Given the description of an element on the screen output the (x, y) to click on. 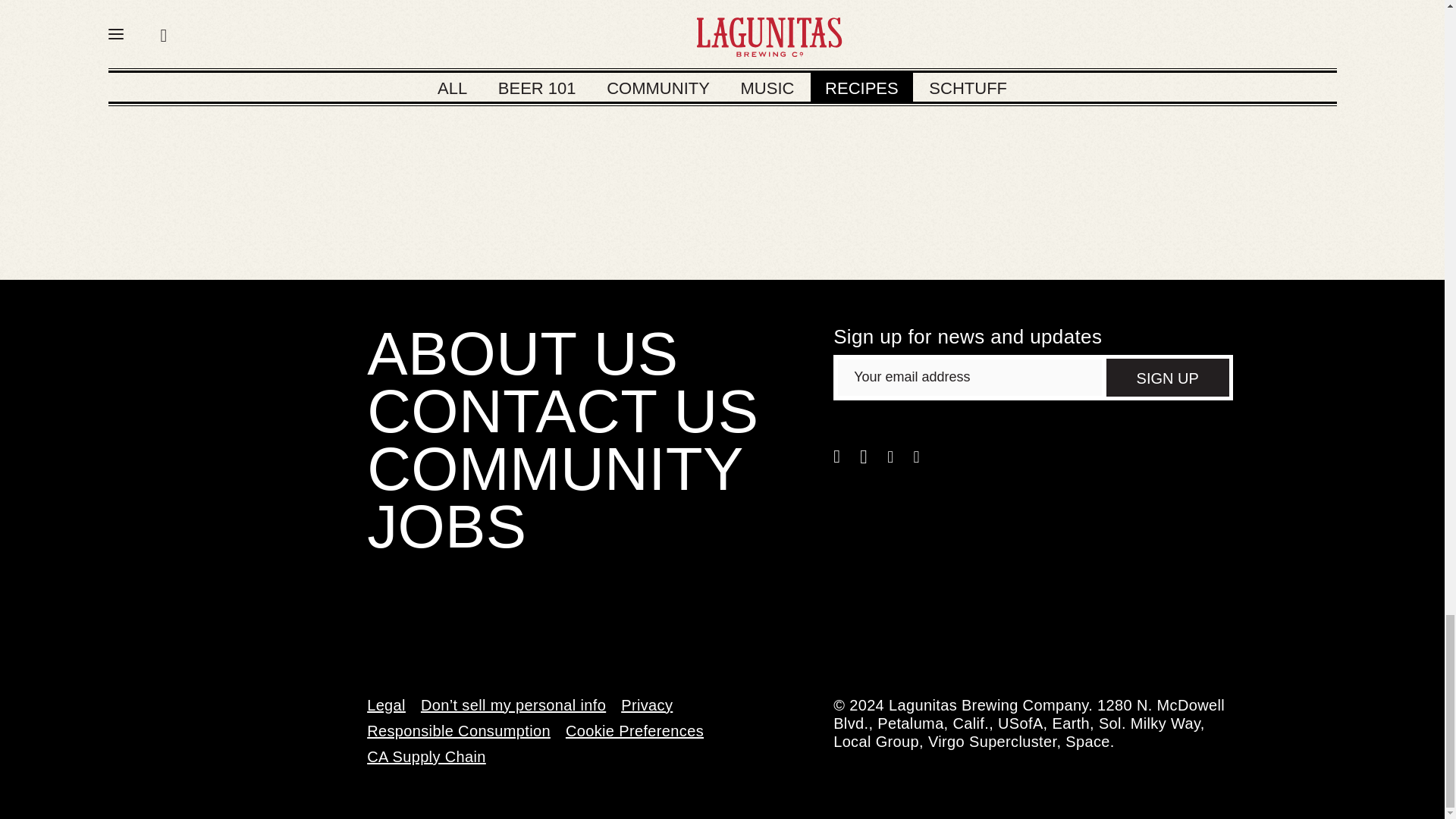
LAL: ROBERT RANDOLPH BAND (413, 76)
VARIETEA PACK (671, 65)
sign up (1167, 377)
